Given the description of an element on the screen output the (x, y) to click on. 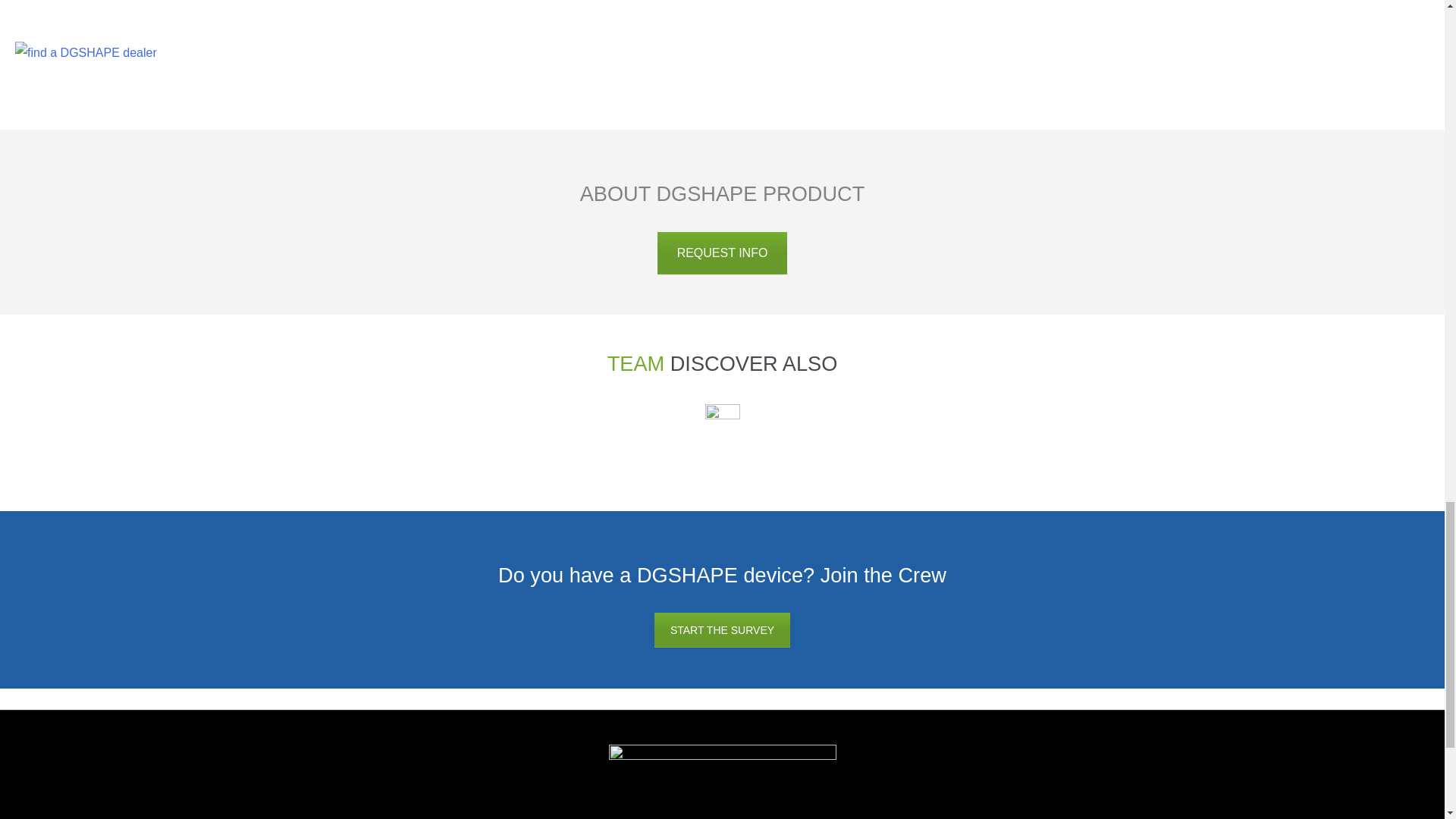
About DGSHAPE product (722, 252)
REQUEST INFO (722, 252)
